Given the description of an element on the screen output the (x, y) to click on. 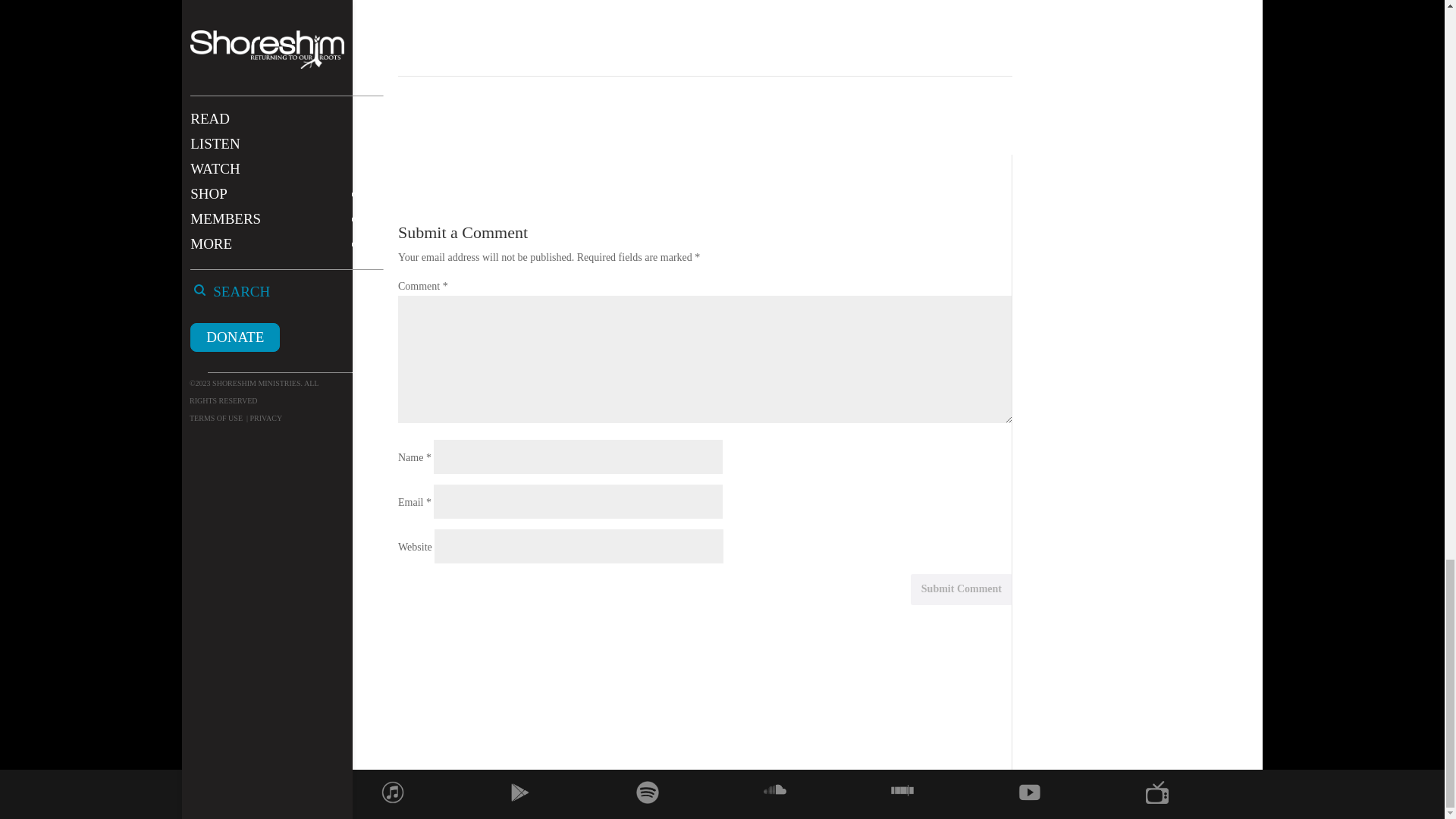
Submit Comment (961, 589)
SIGN UP (860, 7)
Submit Comment (961, 589)
